Given the description of an element on the screen output the (x, y) to click on. 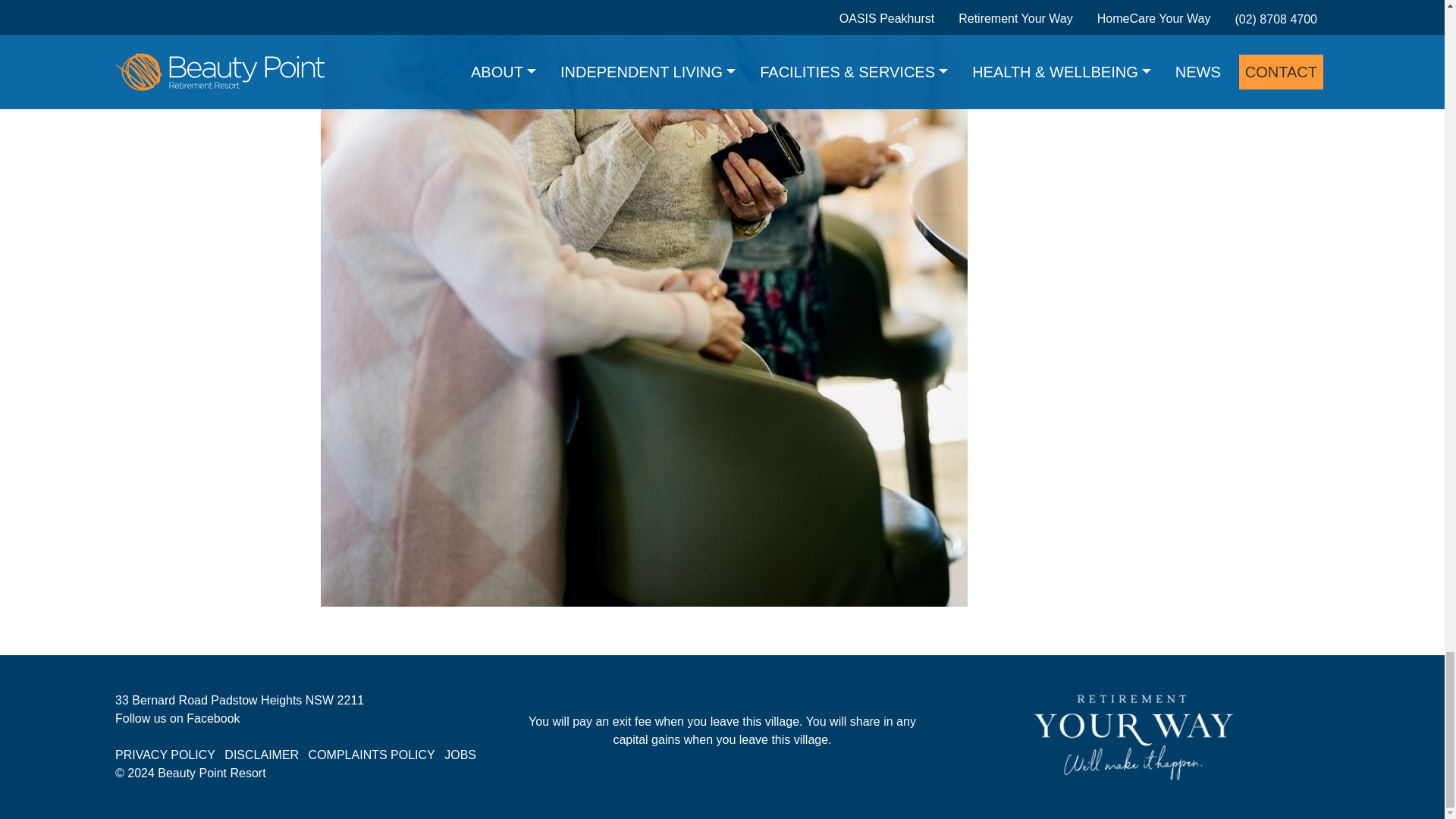
COMPLAINTS POLICY (371, 754)
DISCLAIMER (261, 754)
JOBS (460, 754)
PRIVACY POLICY (165, 754)
Follow us on Facebook (177, 717)
